Given the description of an element on the screen output the (x, y) to click on. 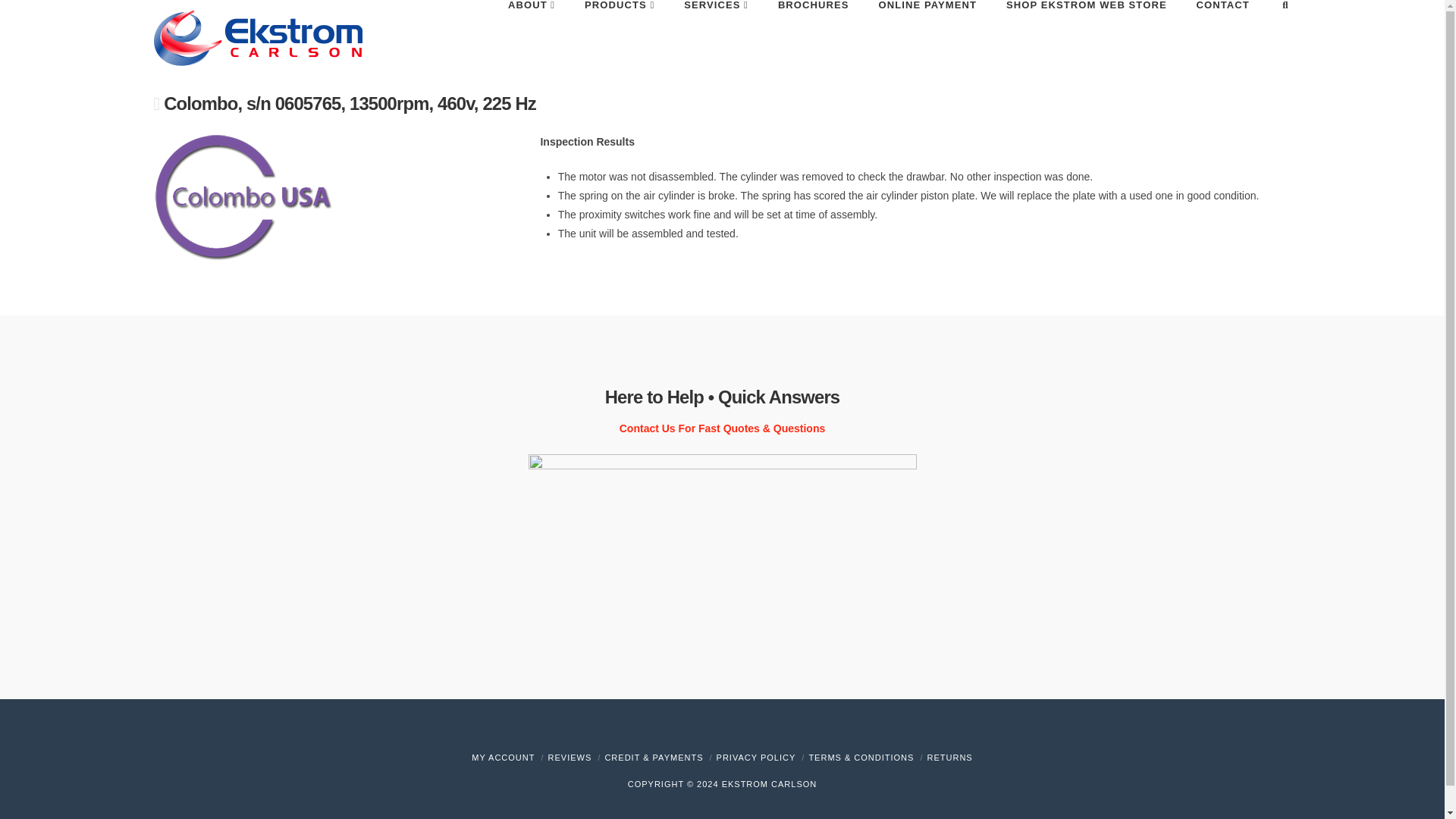
CONTACT (1221, 32)
BROCHURES (812, 32)
please read (861, 757)
SHOP EKSTROM WEB STORE (1085, 32)
PRODUCTS (618, 32)
ONLINE PAYMENT (927, 32)
what customers are saying (570, 757)
logo (241, 196)
ABOUT (531, 32)
SERVICES (715, 32)
